Given the description of an element on the screen output the (x, y) to click on. 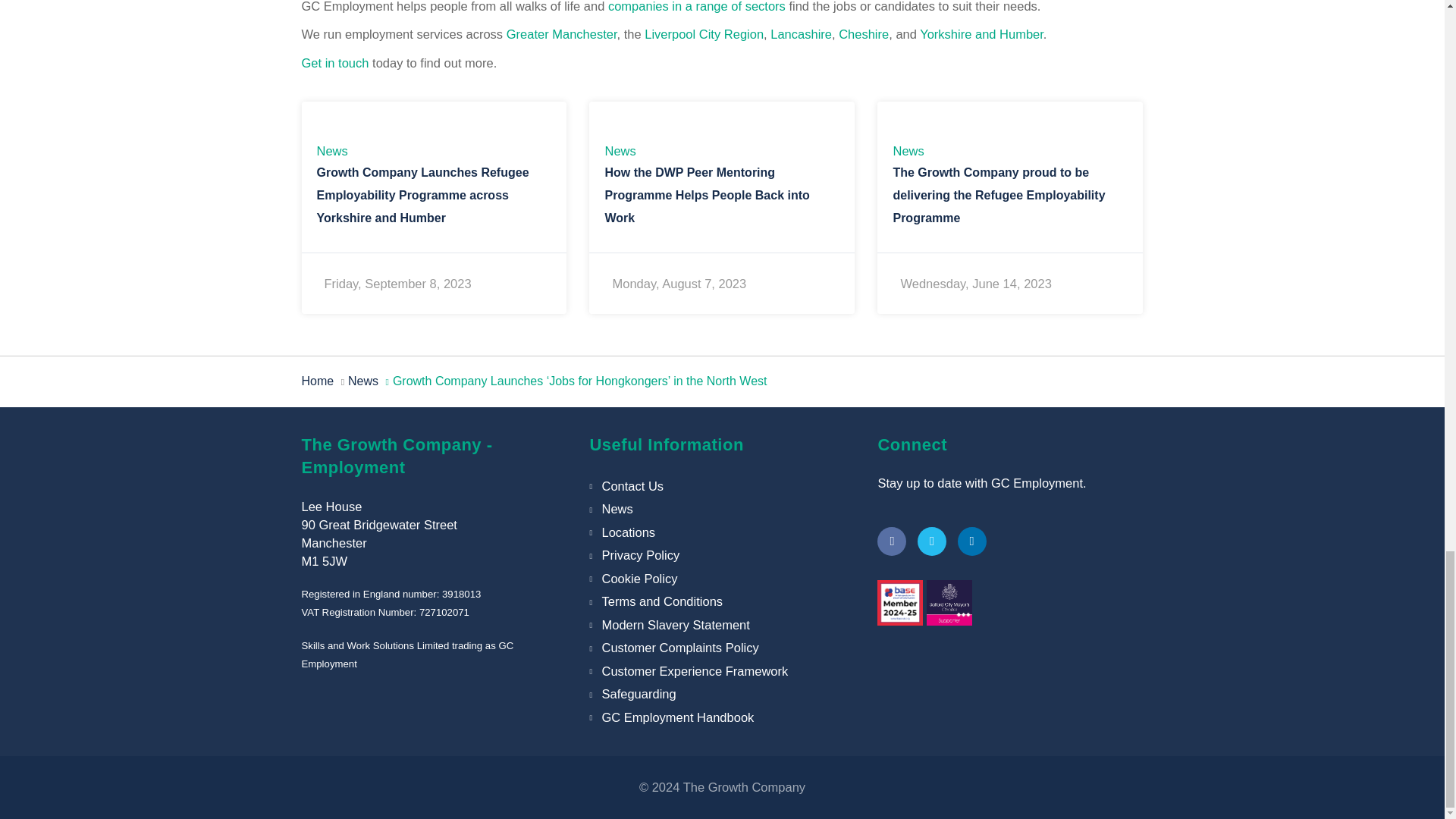
companies in a range of sectors (697, 6)
News (332, 151)
Get in touch (335, 62)
Liverpool City Region (703, 33)
Yorkshire and Humber (981, 33)
Greater Manchester (561, 33)
Lancashire (800, 33)
Cheshire (863, 33)
